Given the description of an element on the screen output the (x, y) to click on. 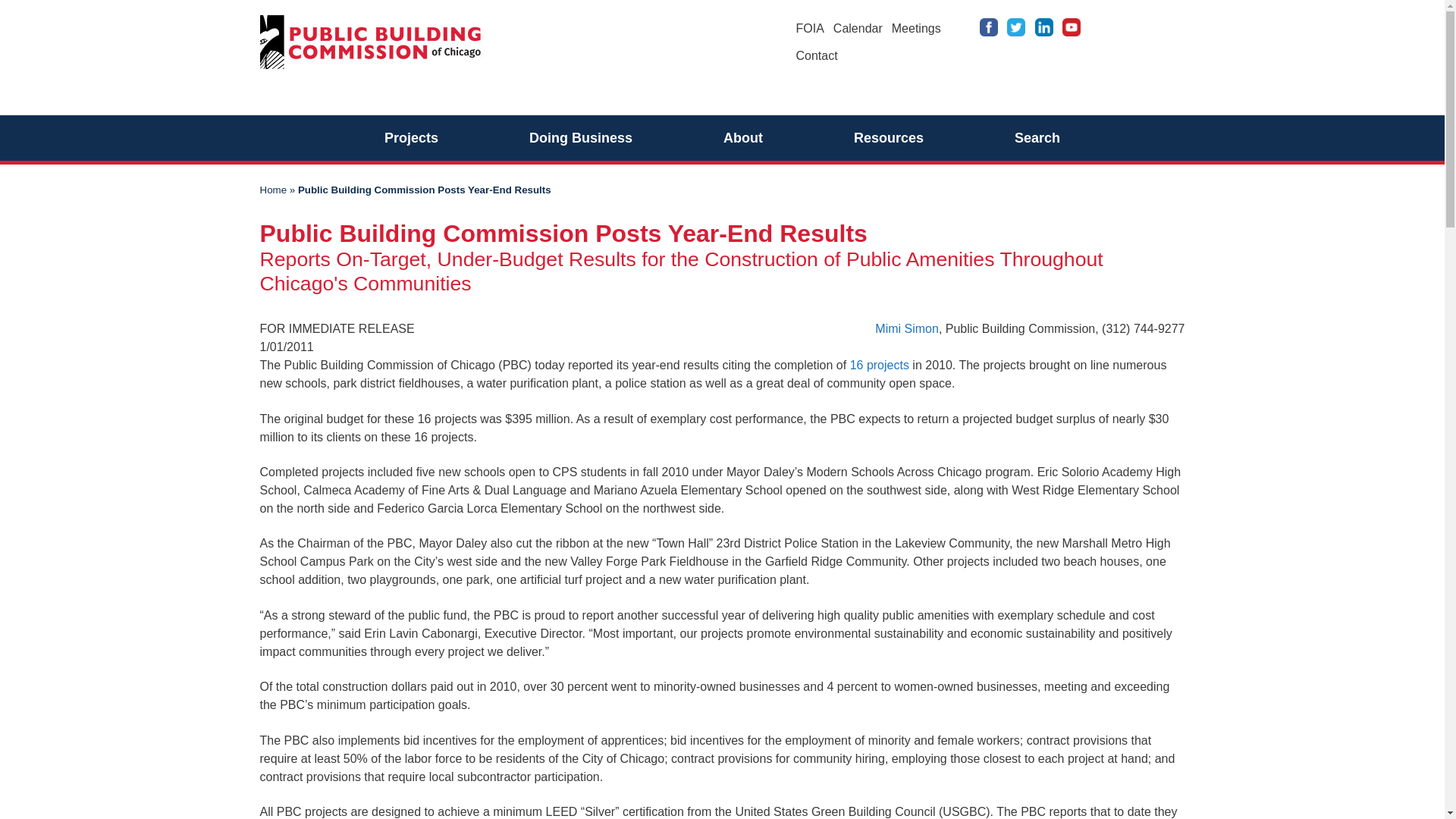
Calendar (857, 28)
FOIA (810, 28)
Projects (411, 137)
Contact (817, 55)
Doing Business (580, 137)
Meetings (915, 28)
